Given the description of an element on the screen output the (x, y) to click on. 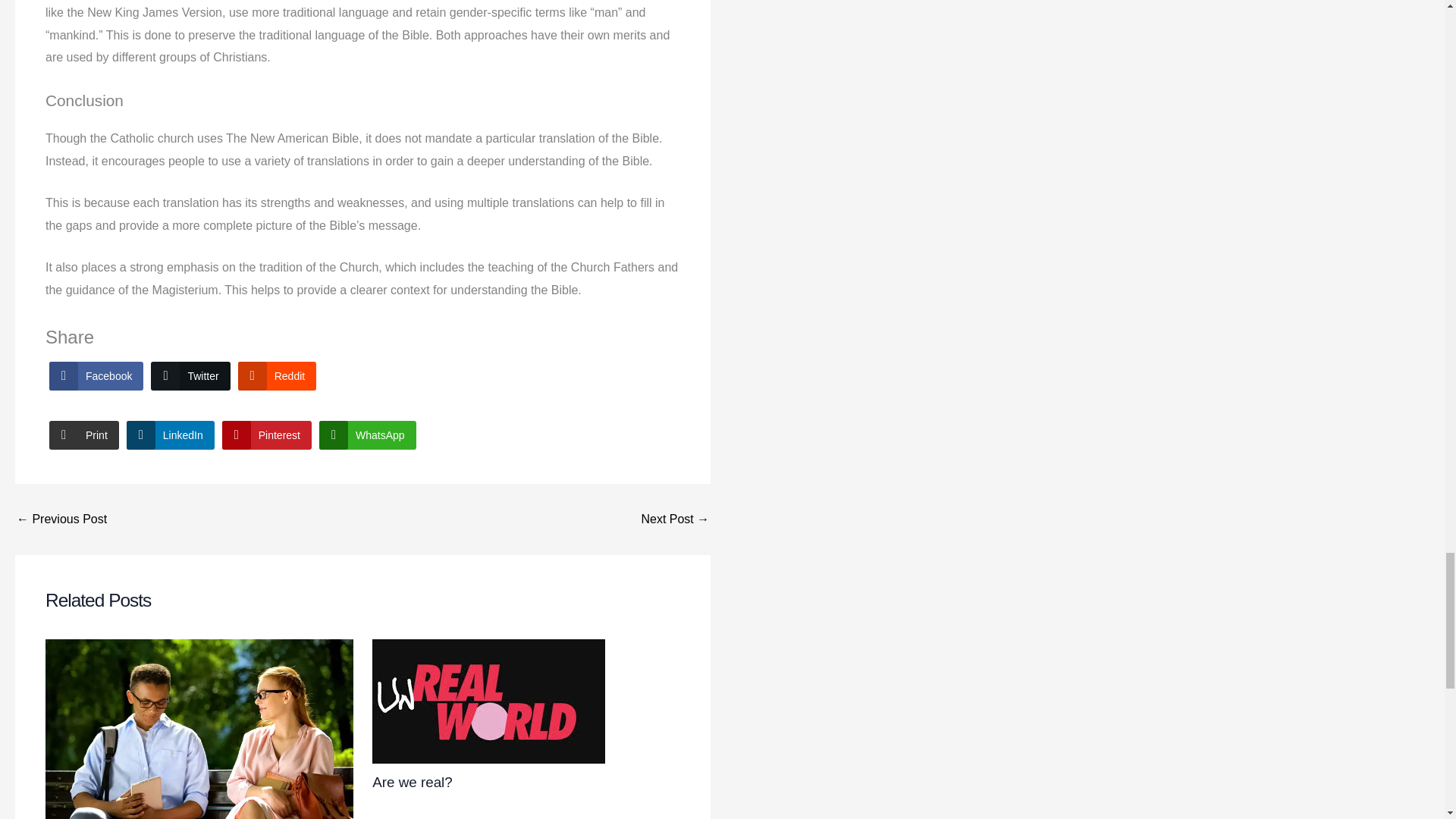
Facebook (95, 375)
